Given the description of an element on the screen output the (x, y) to click on. 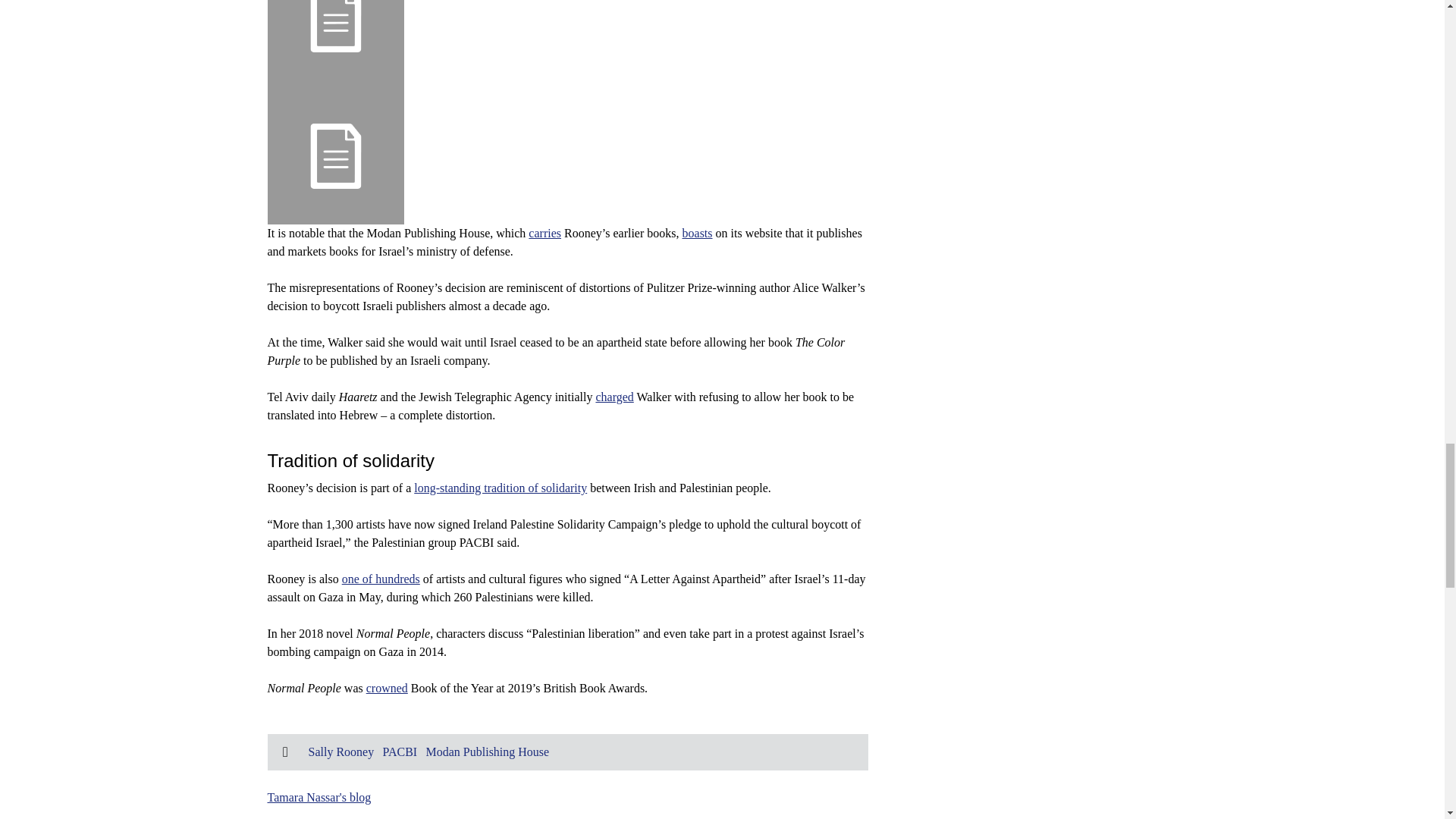
Modan Publishing House (488, 751)
Read Tamara Nassar's latest blog entries. (318, 797)
charged (614, 396)
long-standing tradition of solidarity (499, 487)
carries (544, 232)
one of hundreds (381, 578)
crowned (386, 687)
Tamara Nassar's blog (318, 797)
Sally Rooney (340, 751)
PACBI (399, 751)
boasts (697, 232)
